Given the description of an element on the screen output the (x, y) to click on. 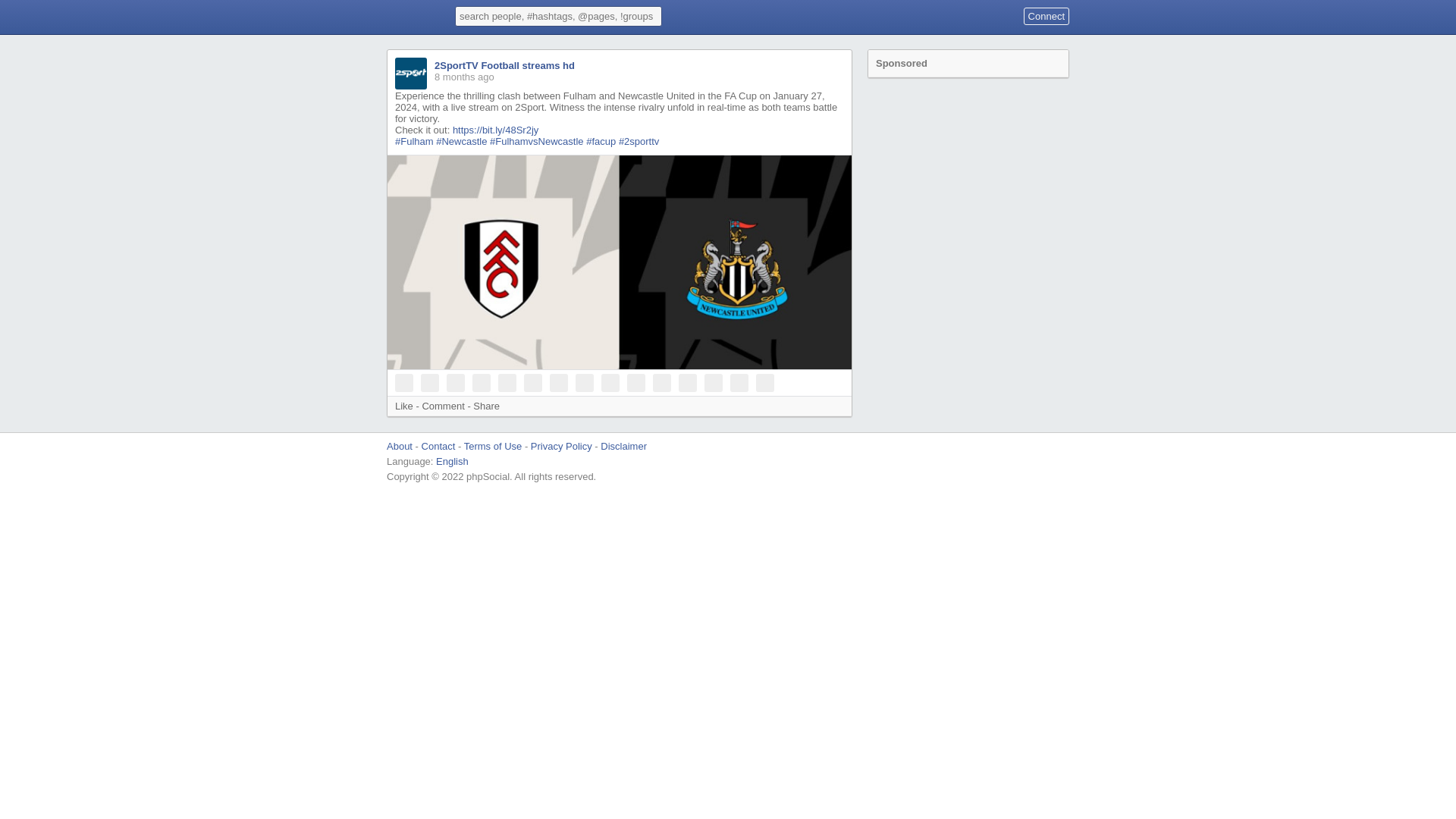
LinkedIn (584, 382)
WhatsApp (610, 382)
Yummly (713, 382)
VKontakte (532, 382)
Log-in to Like, Comment or Share (403, 405)
Like (403, 405)
Evernote (687, 382)
Pinterest (455, 382)
Share (486, 405)
Comment (443, 405)
